Given the description of an element on the screen output the (x, y) to click on. 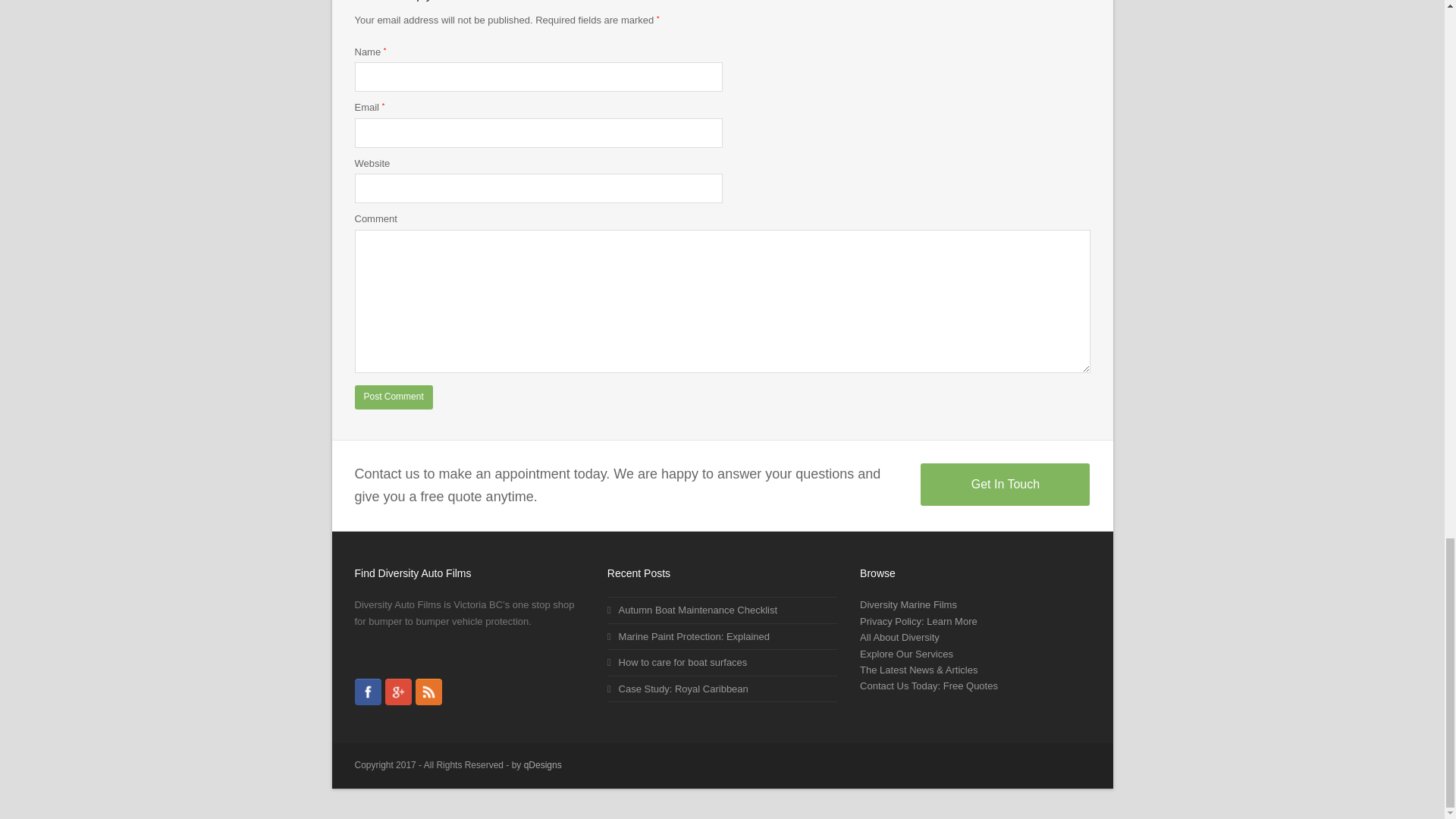
Get In Touch (1004, 484)
Explore Our Services (906, 653)
All About Diversity (899, 636)
Post Comment (393, 396)
Post Comment (393, 396)
Case Study: Royal Caribbean (677, 687)
Privacy Policy: Learn More (918, 621)
How to care for boat surfaces (677, 662)
Autumn Boat Maintenance Checklist (692, 609)
Get In Touch (1004, 484)
Diversity Marine Films (908, 604)
Marine Paint Protection: Explained (688, 636)
